Given the description of an element on the screen output the (x, y) to click on. 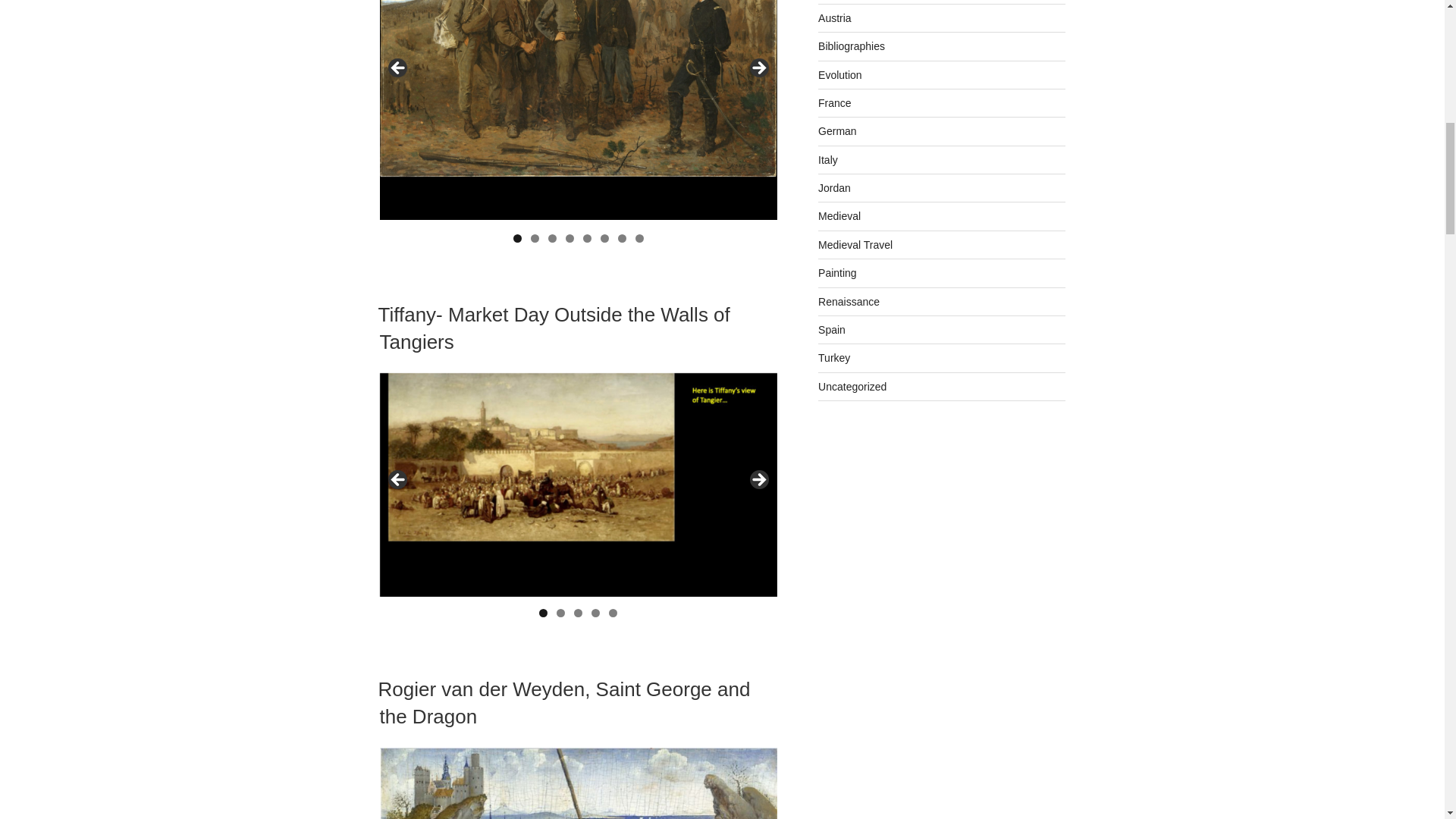
3 (577, 613)
1 (542, 613)
4 (595, 613)
Rogier van der Weyden, Saint George and the Dragon (563, 703)
8 (638, 238)
6 (603, 238)
1 (517, 238)
3 (552, 238)
2 (534, 238)
Previous (398, 68)
